Given the description of an element on the screen output the (x, y) to click on. 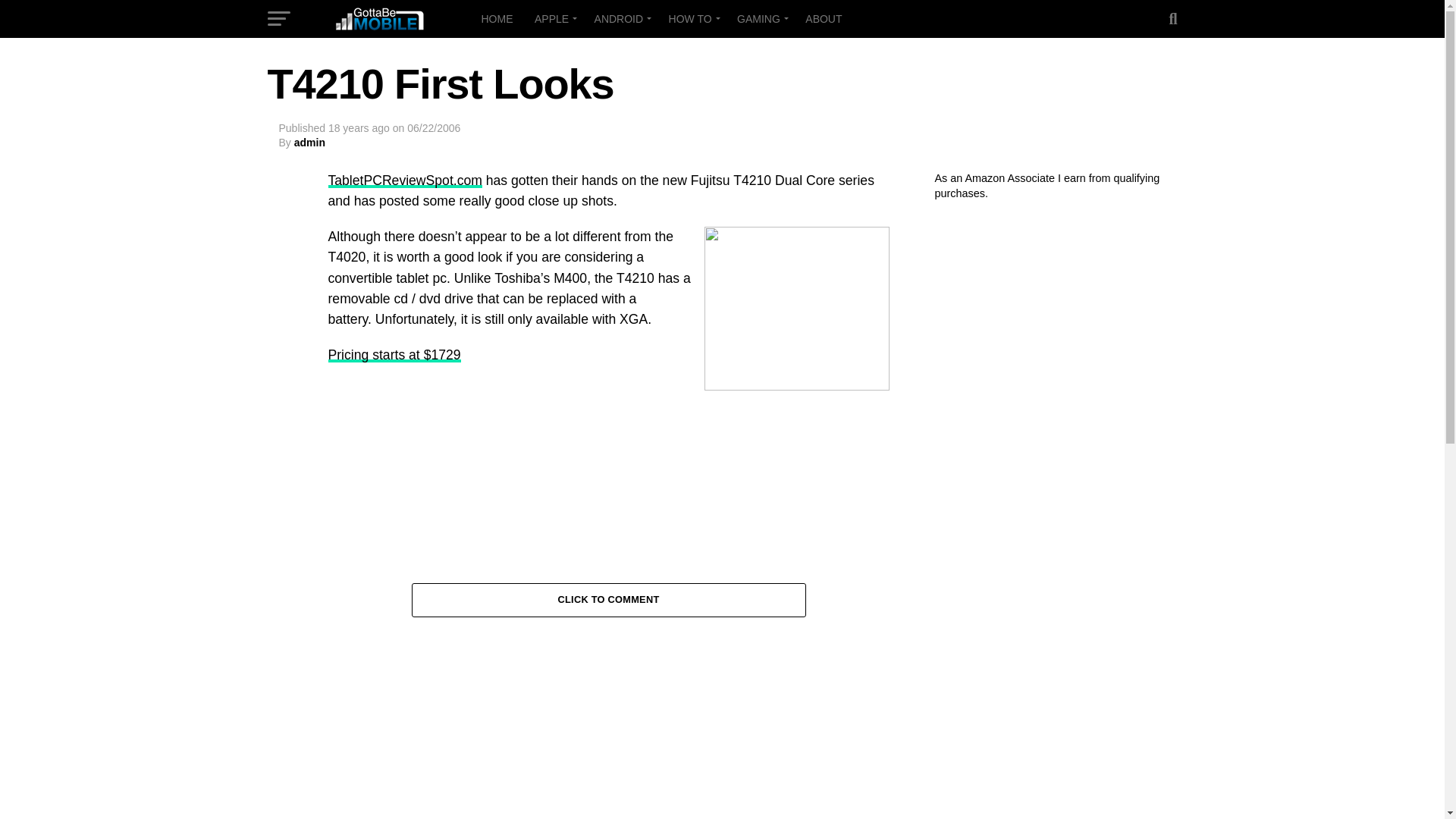
Posts by admin (309, 142)
HOME (496, 18)
GAMING (760, 18)
APPLE (552, 18)
ANDROID (620, 18)
HOW TO (692, 18)
